Given the description of an element on the screen output the (x, y) to click on. 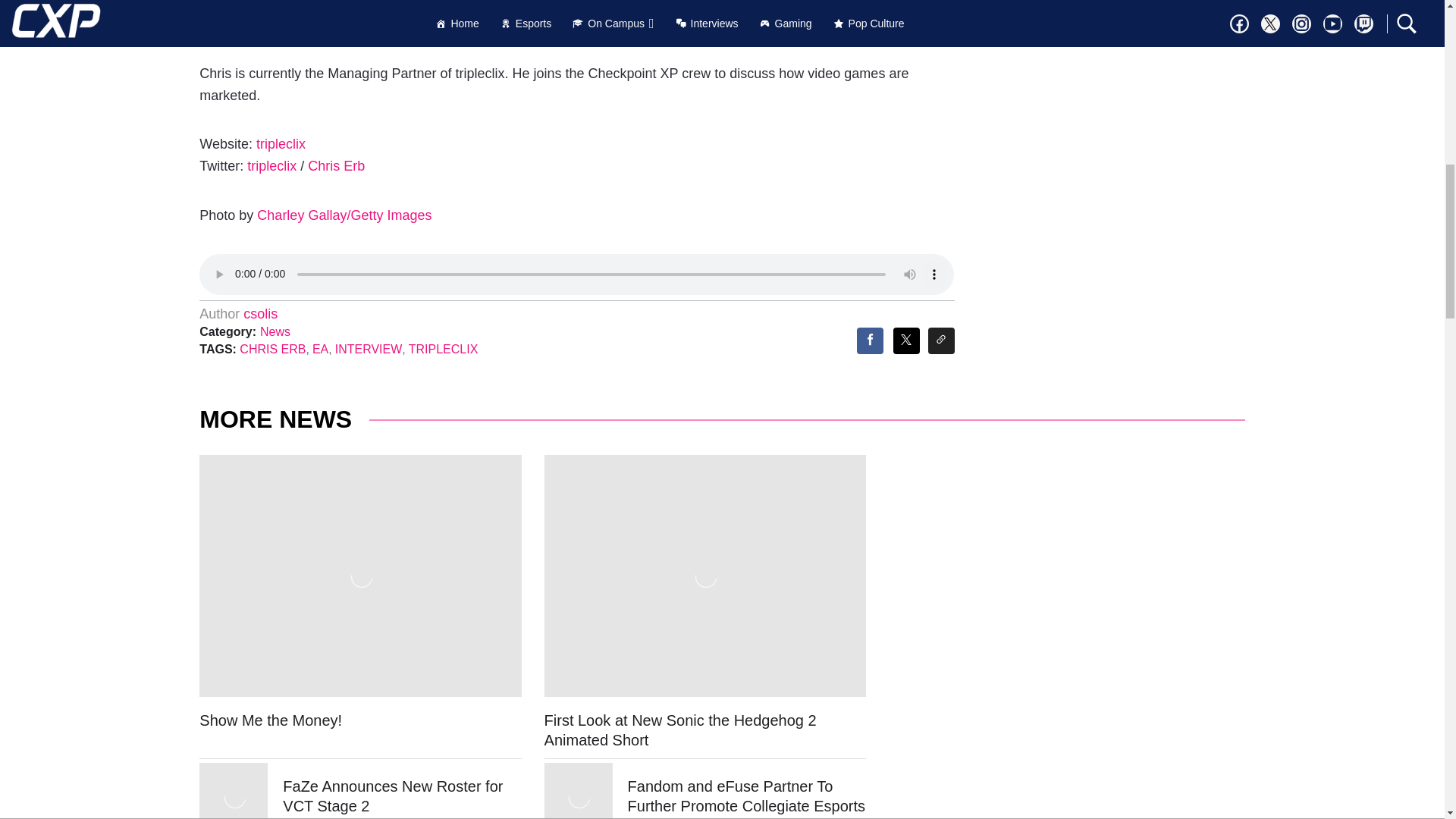
csolis (260, 313)
